Given the description of an element on the screen output the (x, y) to click on. 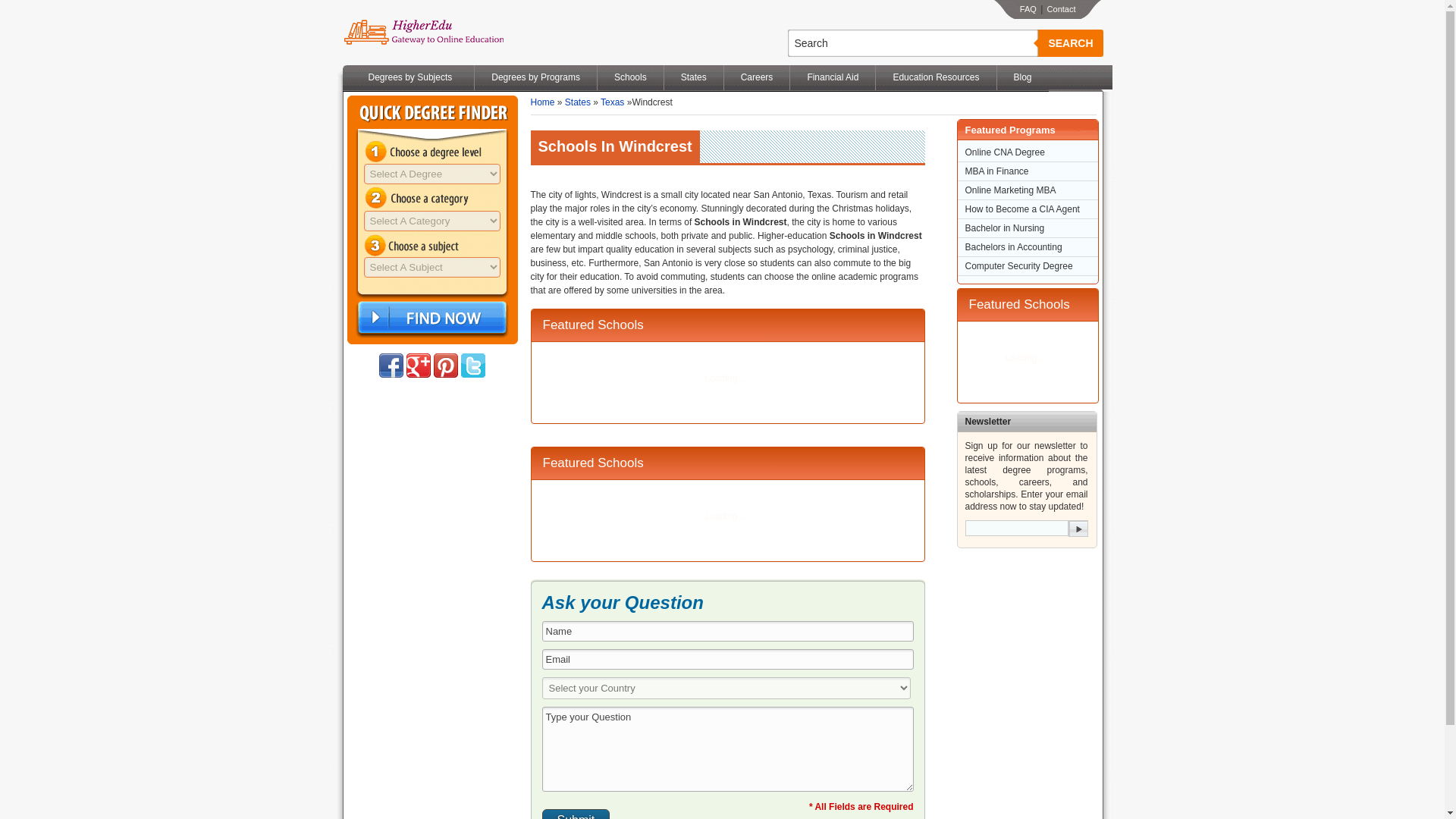
Schools (629, 77)
Degrees by Subjects (410, 77)
Contact (1061, 8)
Find us on pinterest (445, 364)
Careers (756, 77)
States (693, 77)
Degrees by Programs (535, 77)
Email (726, 659)
Submit (575, 814)
